Given the description of an element on the screen output the (x, y) to click on. 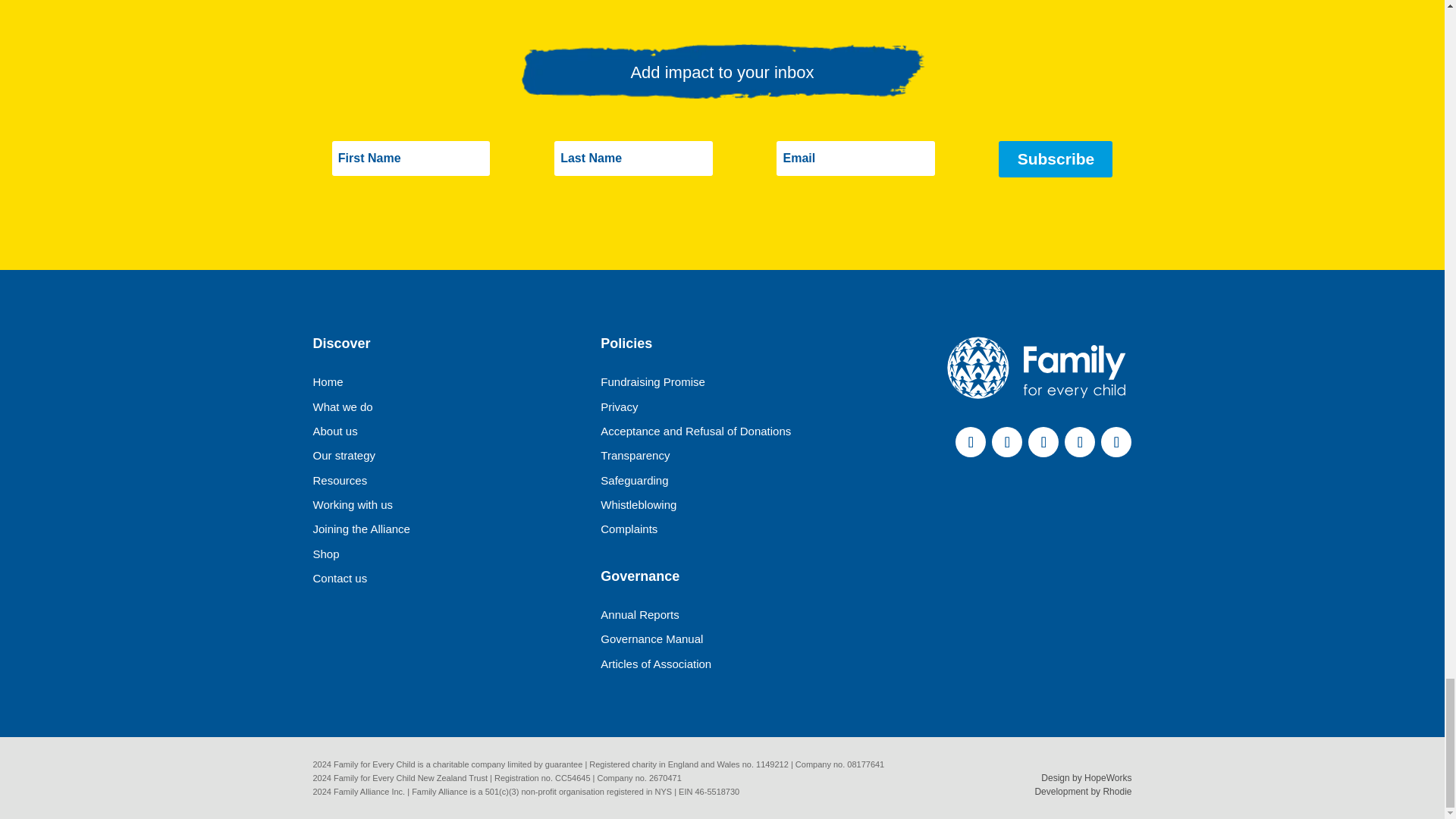
Follow on LinkedIn (1042, 441)
familylogo-01 (1036, 367)
Follow on Youtube (1115, 441)
Follow on Facebook (970, 441)
Follow on Instagram (1079, 441)
Follow on X (1006, 441)
